Given the description of an element on the screen output the (x, y) to click on. 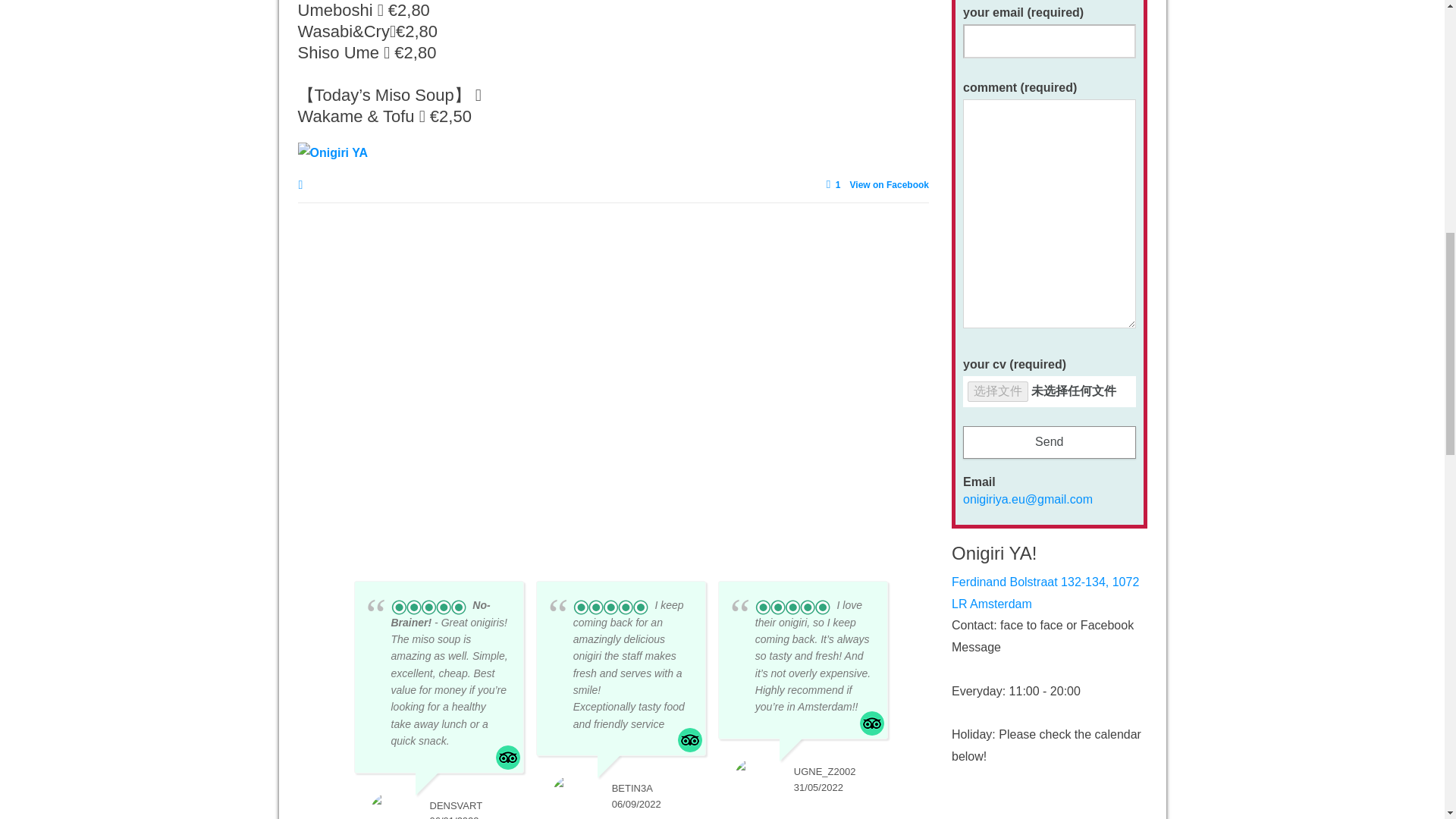
Social Share Options (303, 185)
1View on Facebook (873, 185)
Send (1048, 441)
